Given the description of an element on the screen output the (x, y) to click on. 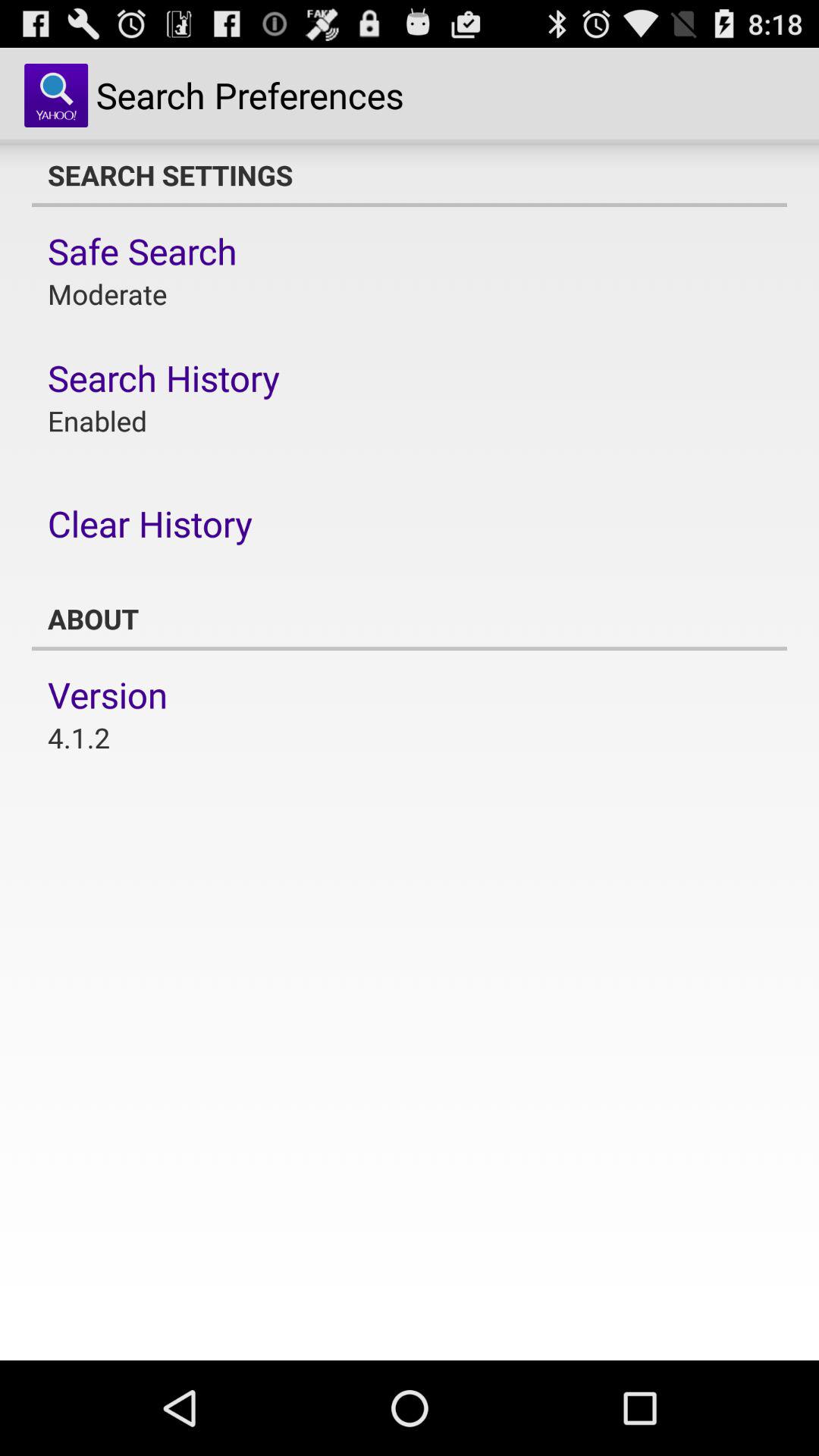
swipe until moderate item (107, 293)
